Given the description of an element on the screen output the (x, y) to click on. 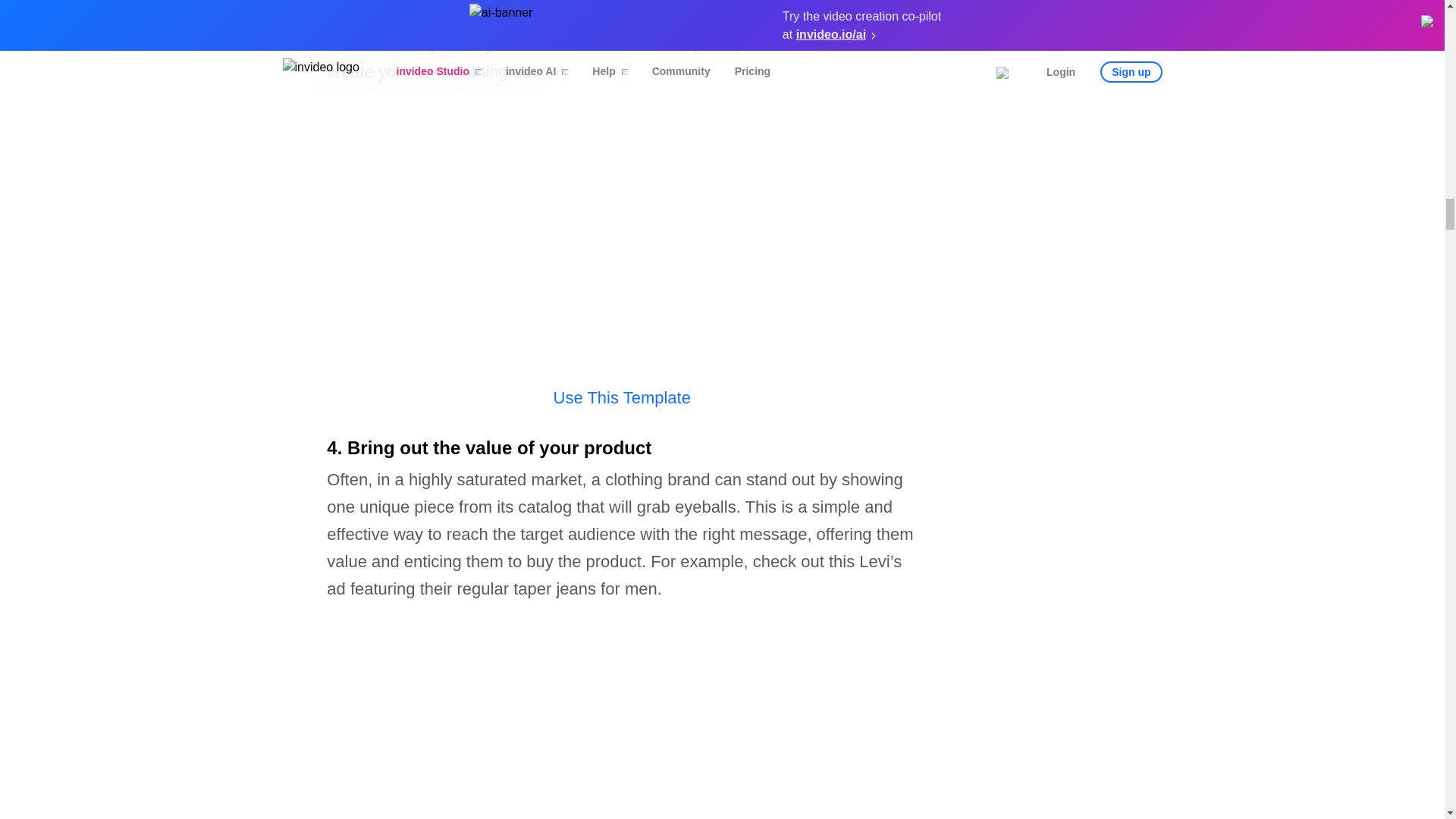
sale (341, 7)
discount templates (464, 7)
Use This Template (621, 397)
